Given the description of an element on the screen output the (x, y) to click on. 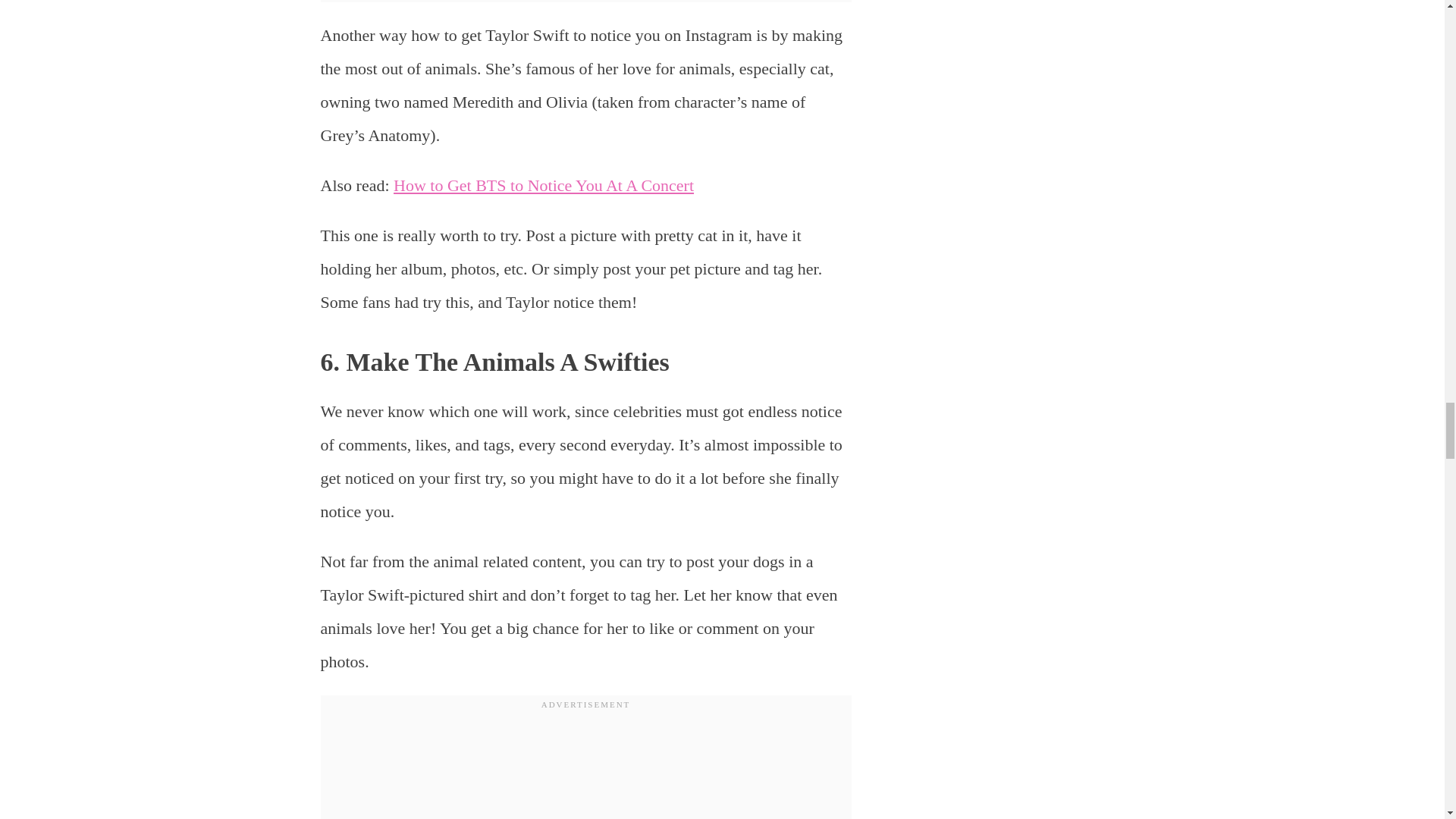
How to Get BTS to Notice You At A Concert (543, 185)
